Given the description of an element on the screen output the (x, y) to click on. 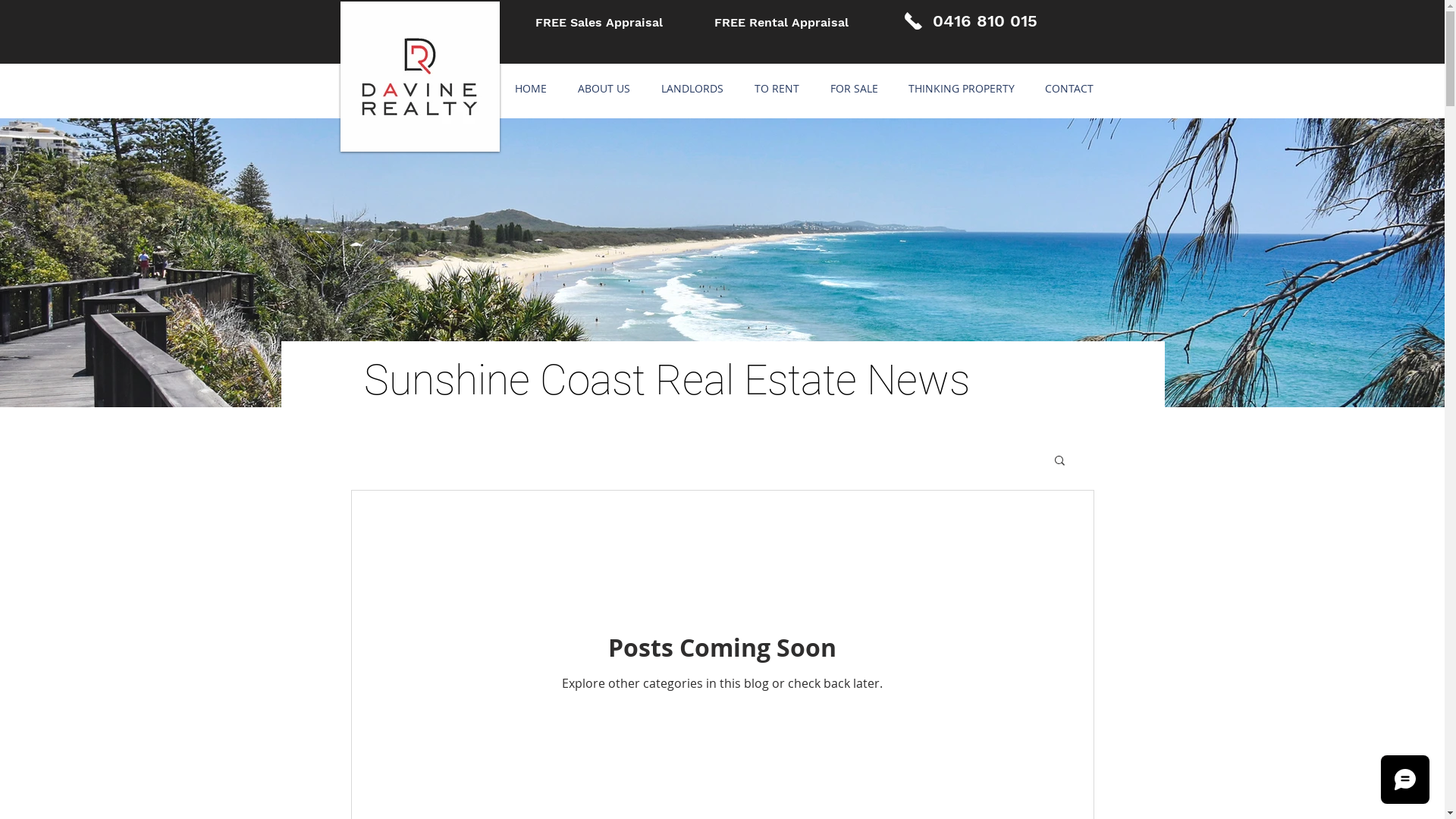
Davine Realty Element type: hover (418, 76)
FREE Rental Appraisal Element type: text (780, 22)
TO RENT Element type: text (776, 88)
HOME Element type: text (529, 88)
FOR SALE Element type: text (853, 88)
0416 810 015 Element type: text (984, 20)
LANDLORDS Element type: text (692, 88)
CONTACT Element type: text (1068, 88)
FREE Sales Appraisal Element type: text (598, 22)
THINKING PROPERTY Element type: text (961, 88)
ABOUT US Element type: text (604, 88)
